Given the description of an element on the screen output the (x, y) to click on. 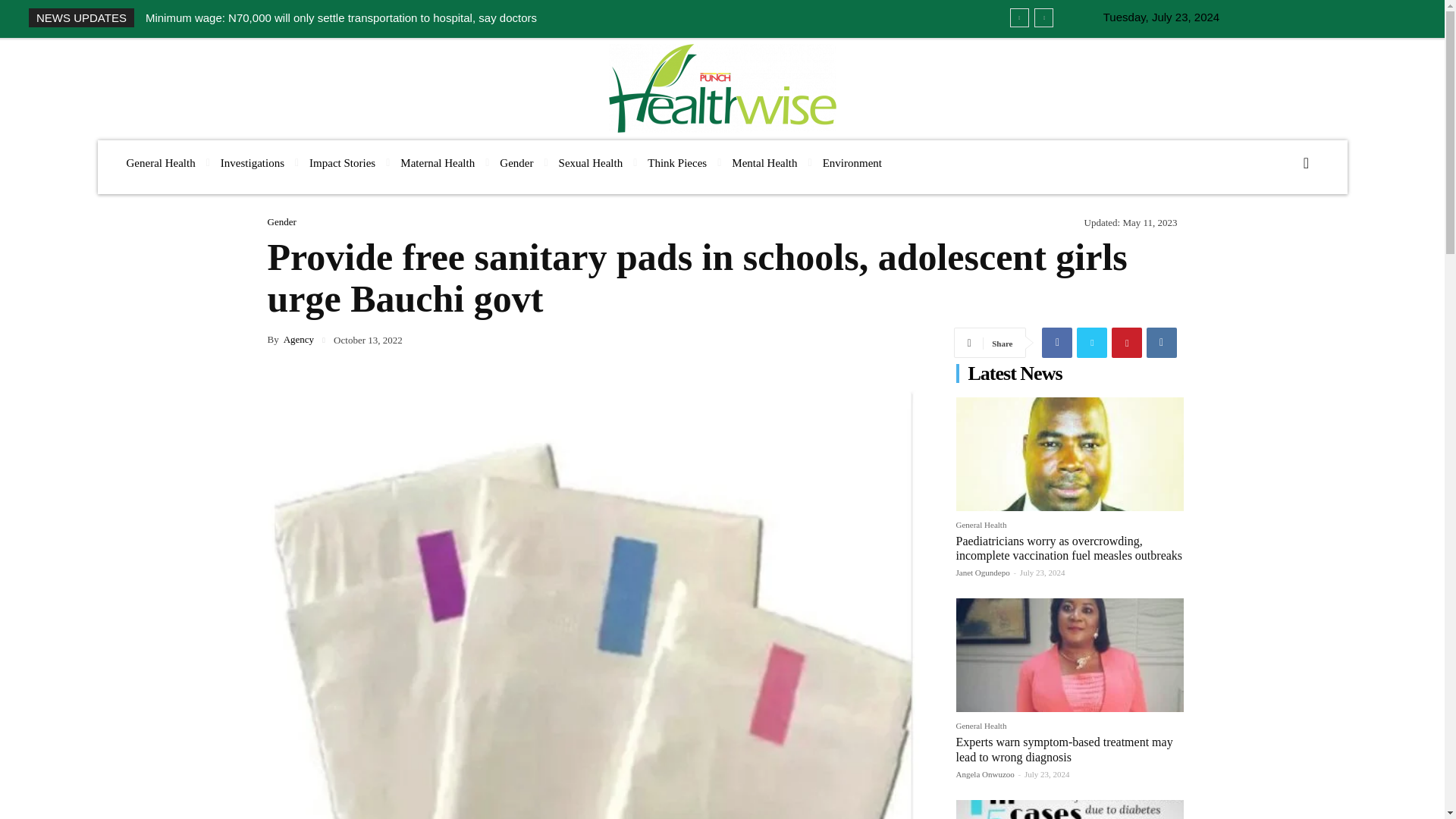
Investigations (252, 163)
General Health (160, 163)
